Given the description of an element on the screen output the (x, y) to click on. 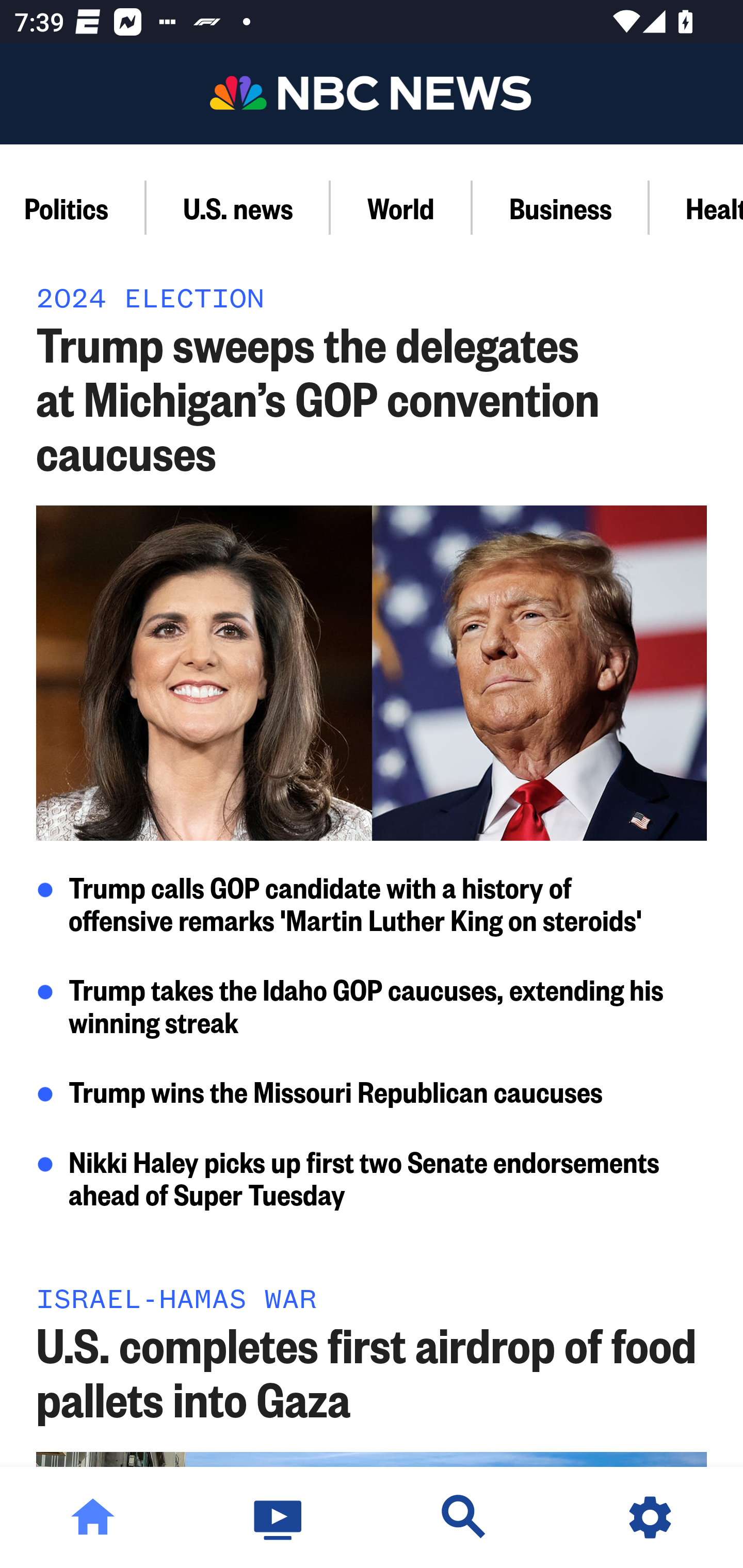
Politics Section,Politics (73, 207)
U.S. news Section,U.S. news (238, 207)
World Section,World (401, 207)
Business Section,Business (560, 207)
Watch (278, 1517)
Discover (464, 1517)
Settings (650, 1517)
